Given the description of an element on the screen output the (x, y) to click on. 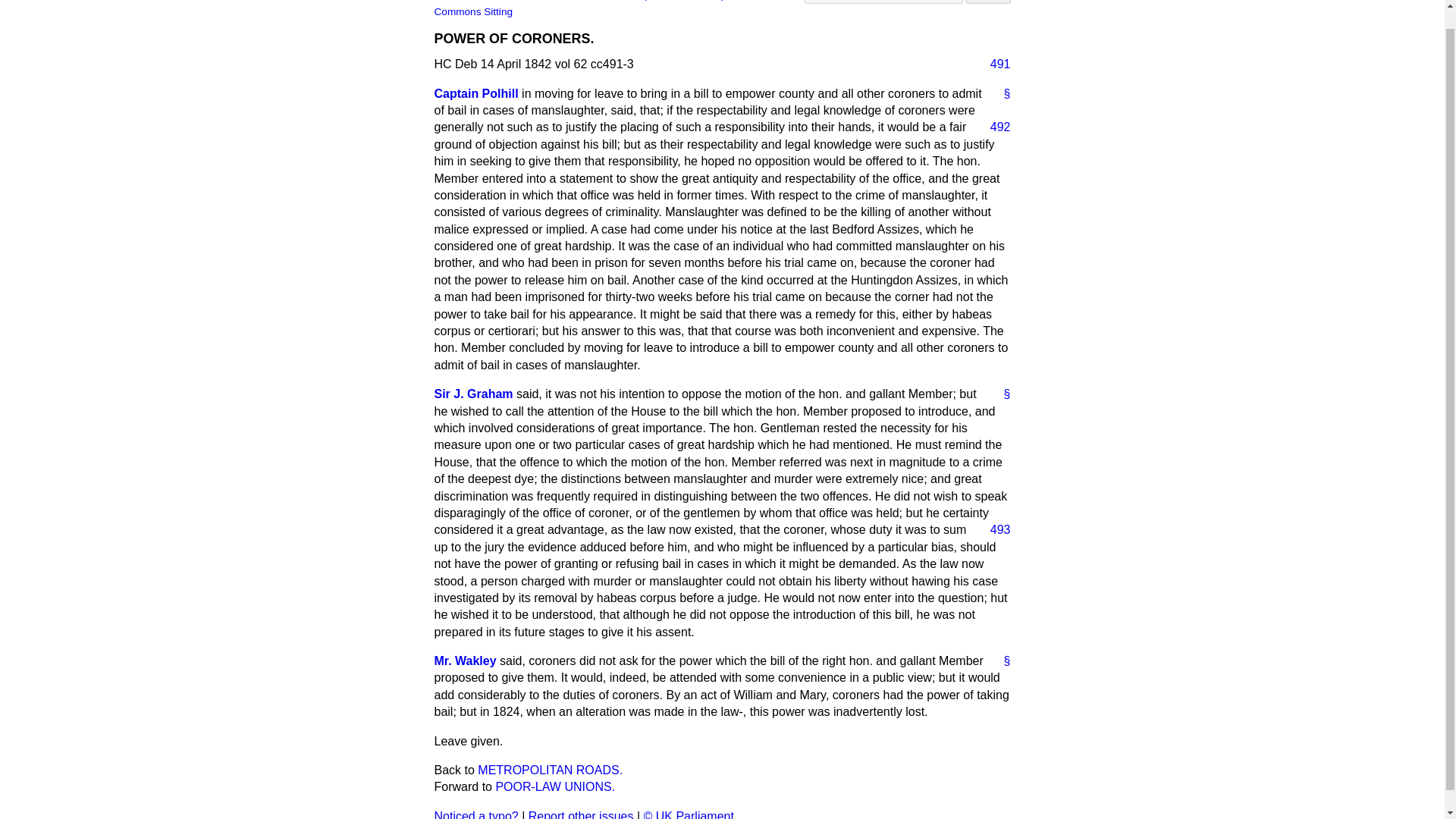
Search (988, 2)
POOR-LAW UNIONS. (554, 786)
Link to this speech by Mr Thomas Wakley (1000, 660)
491 (994, 64)
492 (994, 126)
14 April 1842 (731, 0)
Search (988, 2)
Mr. Wakley (464, 660)
METROPOLITAN ROADS. (550, 769)
Sir J. Graham (472, 393)
Link to this speech by Mr Frederick Polhill (1000, 93)
Link to this speech by Sir James Graham (1000, 393)
Commons Sitting (472, 11)
Captain Polhill (475, 92)
Mr Frederick Polhill (475, 92)
